Given the description of an element on the screen output the (x, y) to click on. 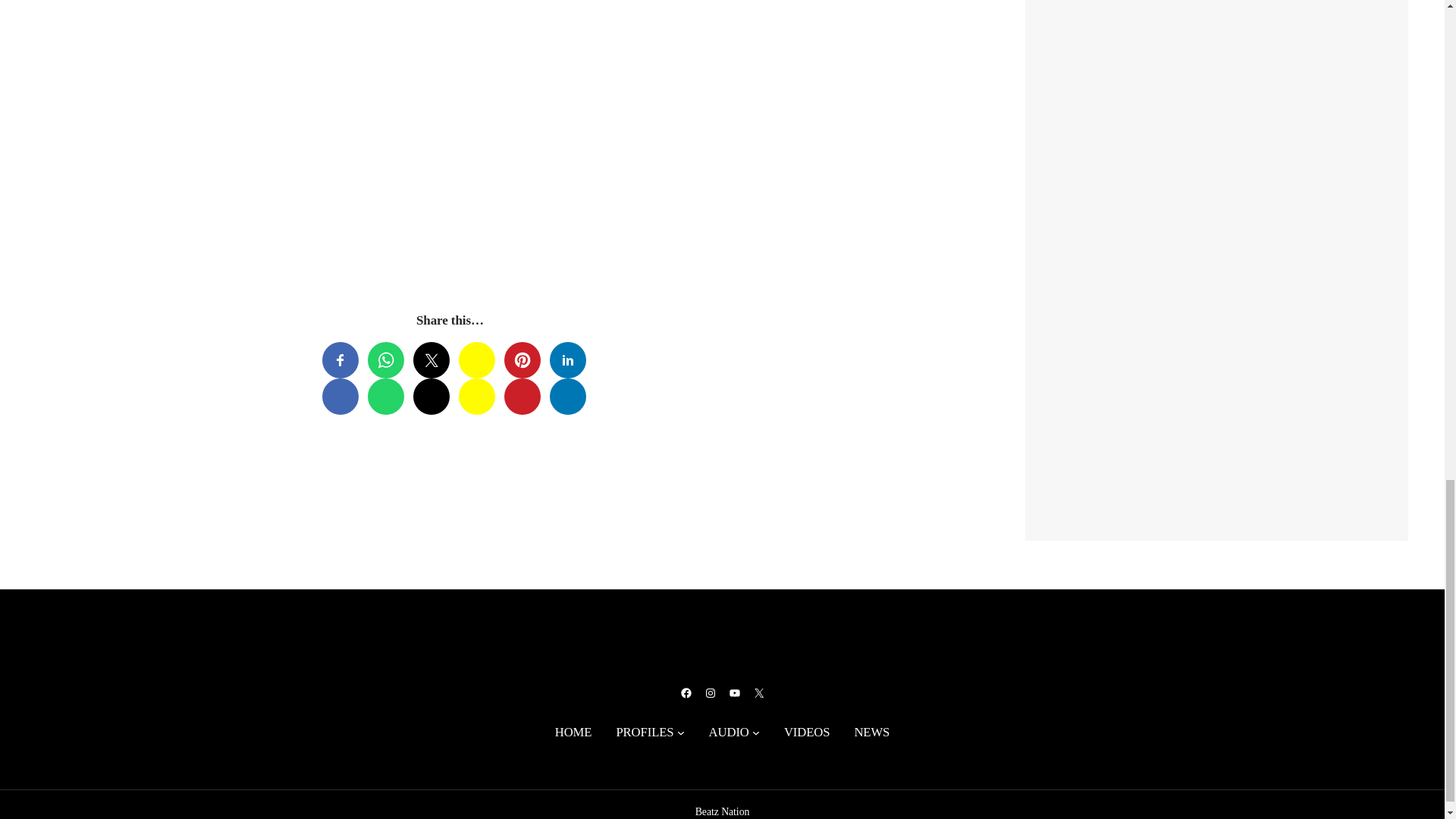
YouTube (733, 693)
Instagram (709, 693)
PROFILES (643, 732)
Facebook (685, 693)
X (758, 693)
HOME (573, 732)
